Given the description of an element on the screen output the (x, y) to click on. 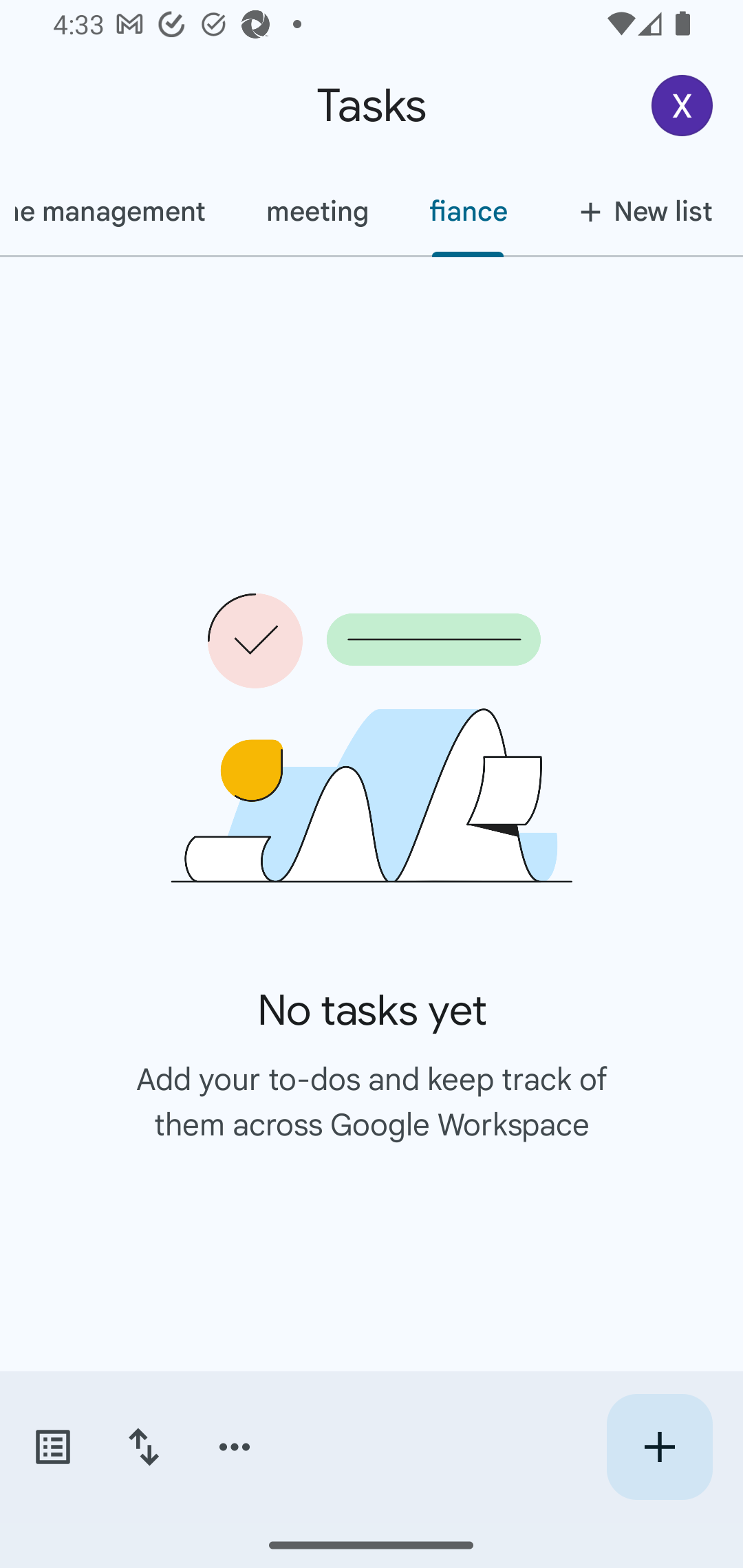
home management (117, 211)
meeting (316, 211)
New list (640, 211)
Switch task lists (52, 1447)
Create new task (659, 1446)
Change sort order (143, 1446)
More options (234, 1446)
